Given the description of an element on the screen output the (x, y) to click on. 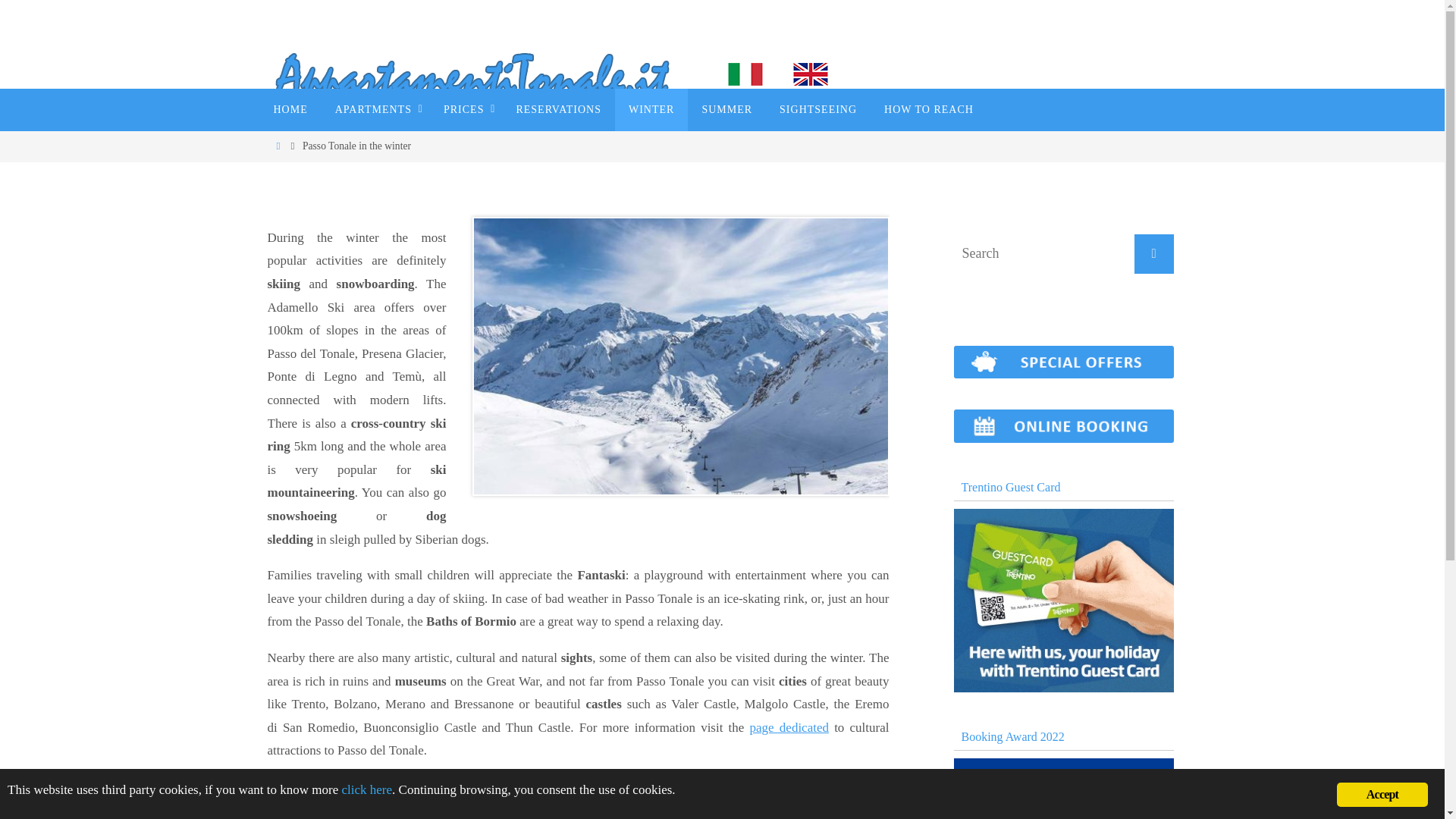
click here (367, 789)
Italiano (744, 74)
SIGHTSEEING (817, 109)
HOME (289, 109)
Search (1153, 253)
RESERVATIONS (558, 109)
WINTER (650, 109)
HOW TO REACH (928, 109)
APARTMENTS (375, 109)
Special offers (1063, 374)
